Given the description of an element on the screen output the (x, y) to click on. 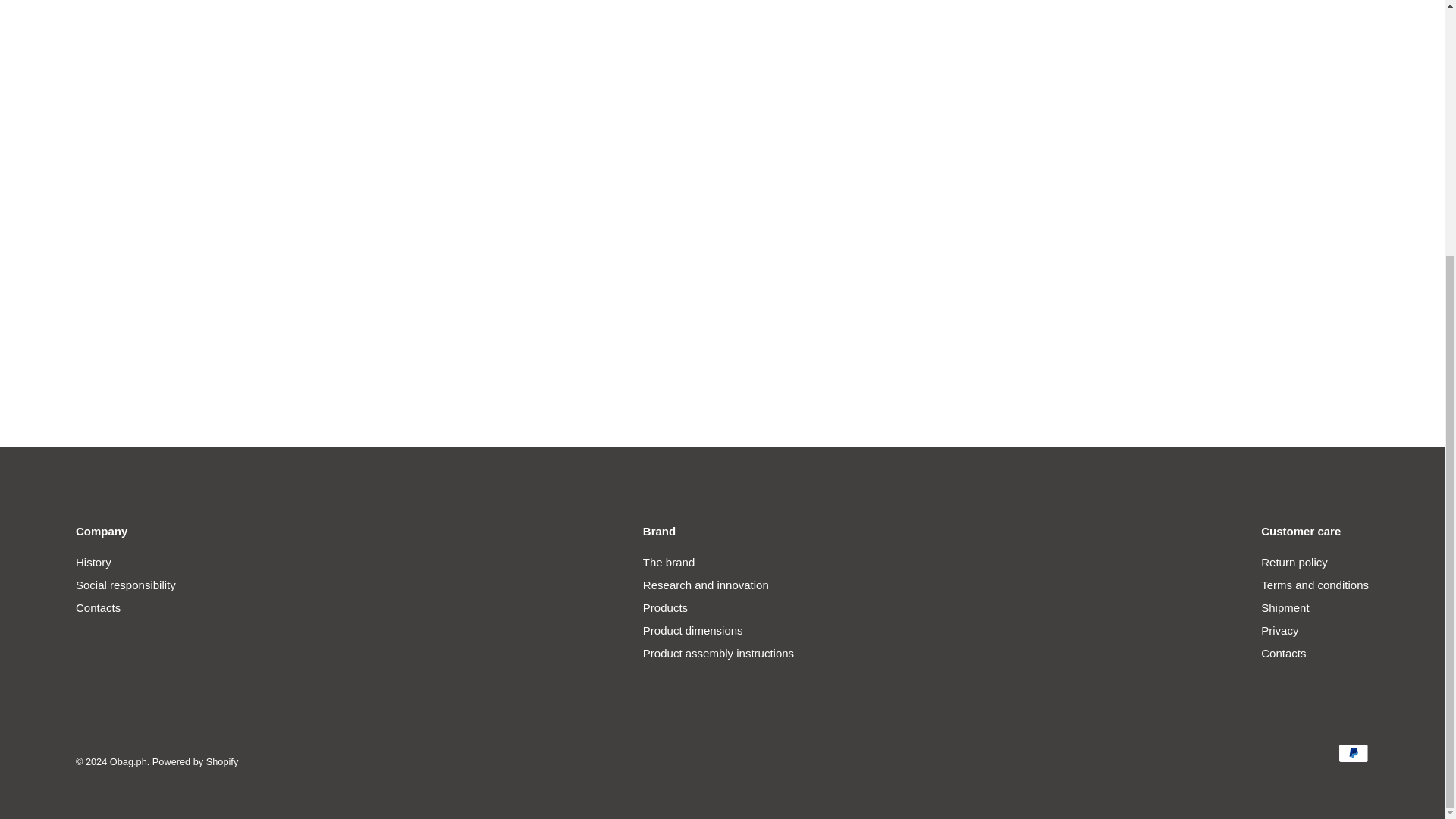
PayPal (1353, 752)
